Given the description of an element on the screen output the (x, y) to click on. 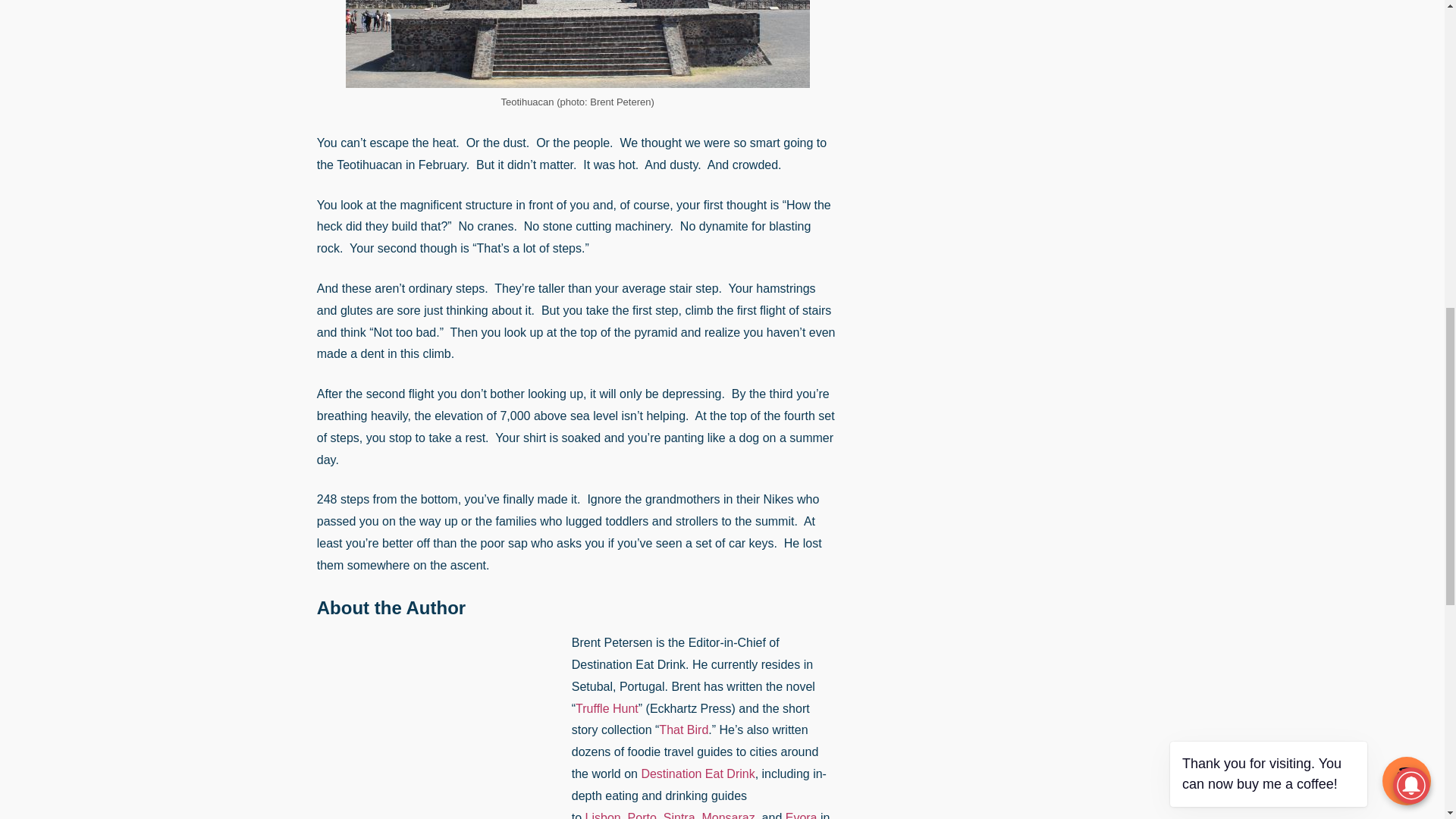
Porto (641, 815)
Truffle Hunt (607, 707)
Monsaraz (727, 815)
Sintra (679, 815)
That Bird (683, 729)
Destination Eat Drink (697, 773)
Lisbon, (604, 815)
